Given the description of an element on the screen output the (x, y) to click on. 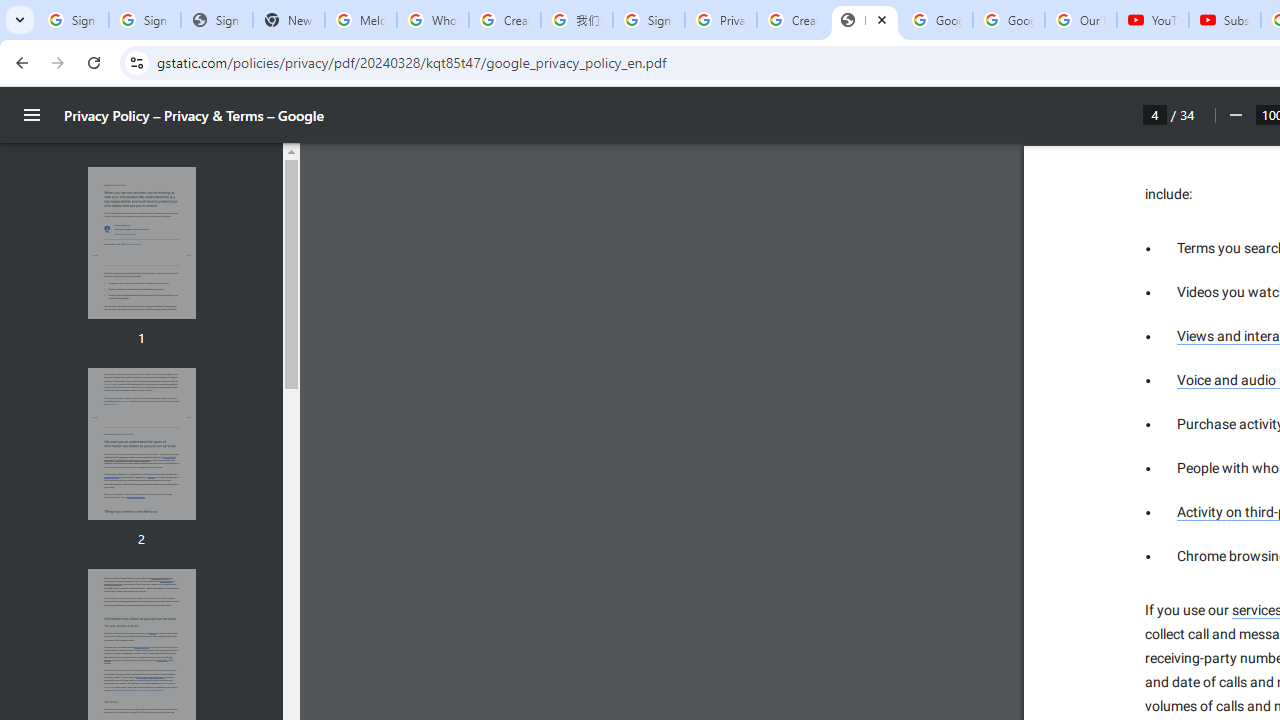
Who is my administrator? - Google Account Help (432, 20)
Menu (31, 115)
Search tabs (20, 20)
Page number (1155, 114)
Create your Google Account (792, 20)
Forward (57, 62)
Subscriptions - YouTube (1224, 20)
Thumbnail for page 2 (141, 444)
Close (881, 19)
